Given the description of an element on the screen output the (x, y) to click on. 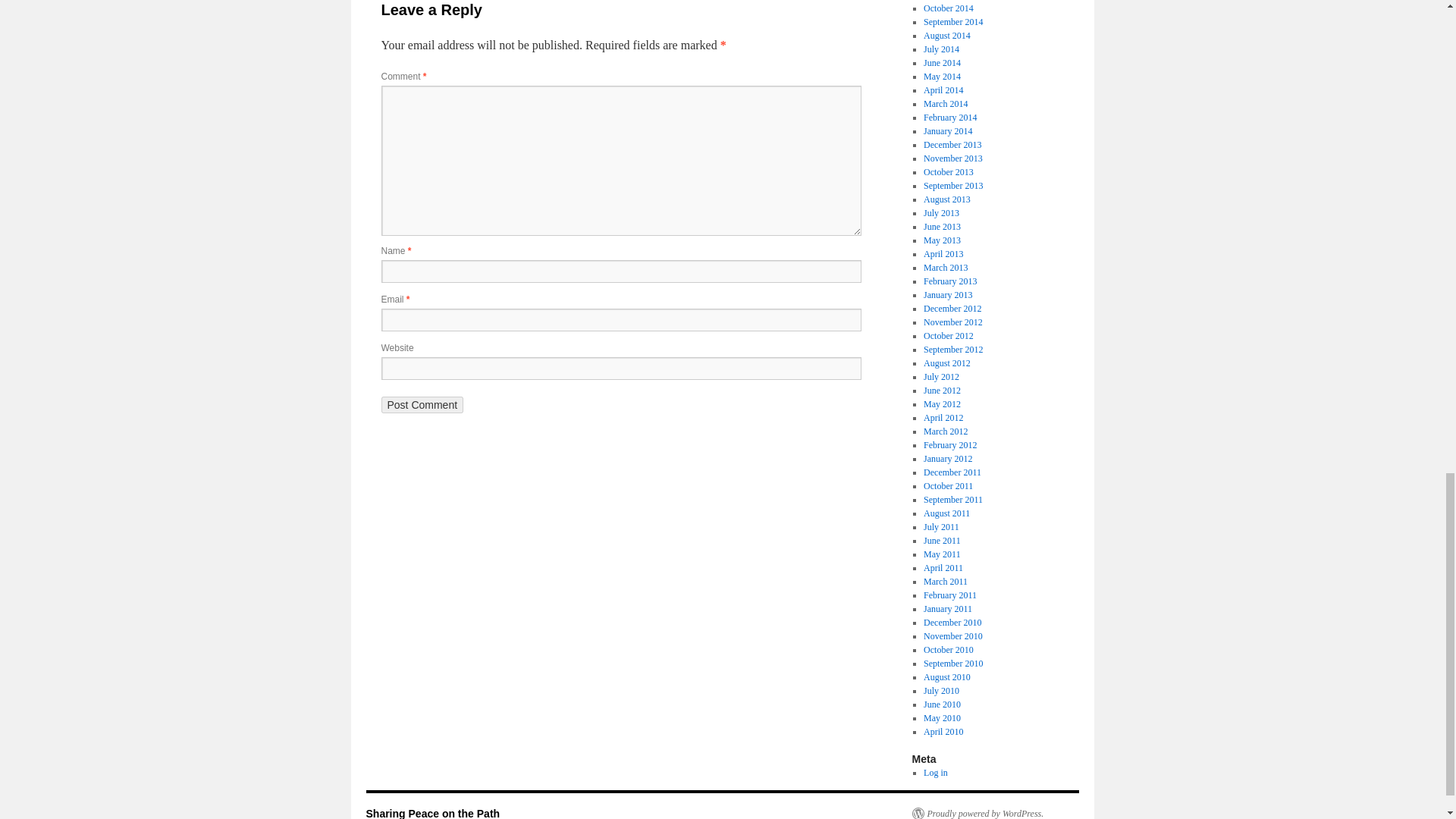
Post Comment (421, 404)
Post Comment (421, 404)
